Given the description of an element on the screen output the (x, y) to click on. 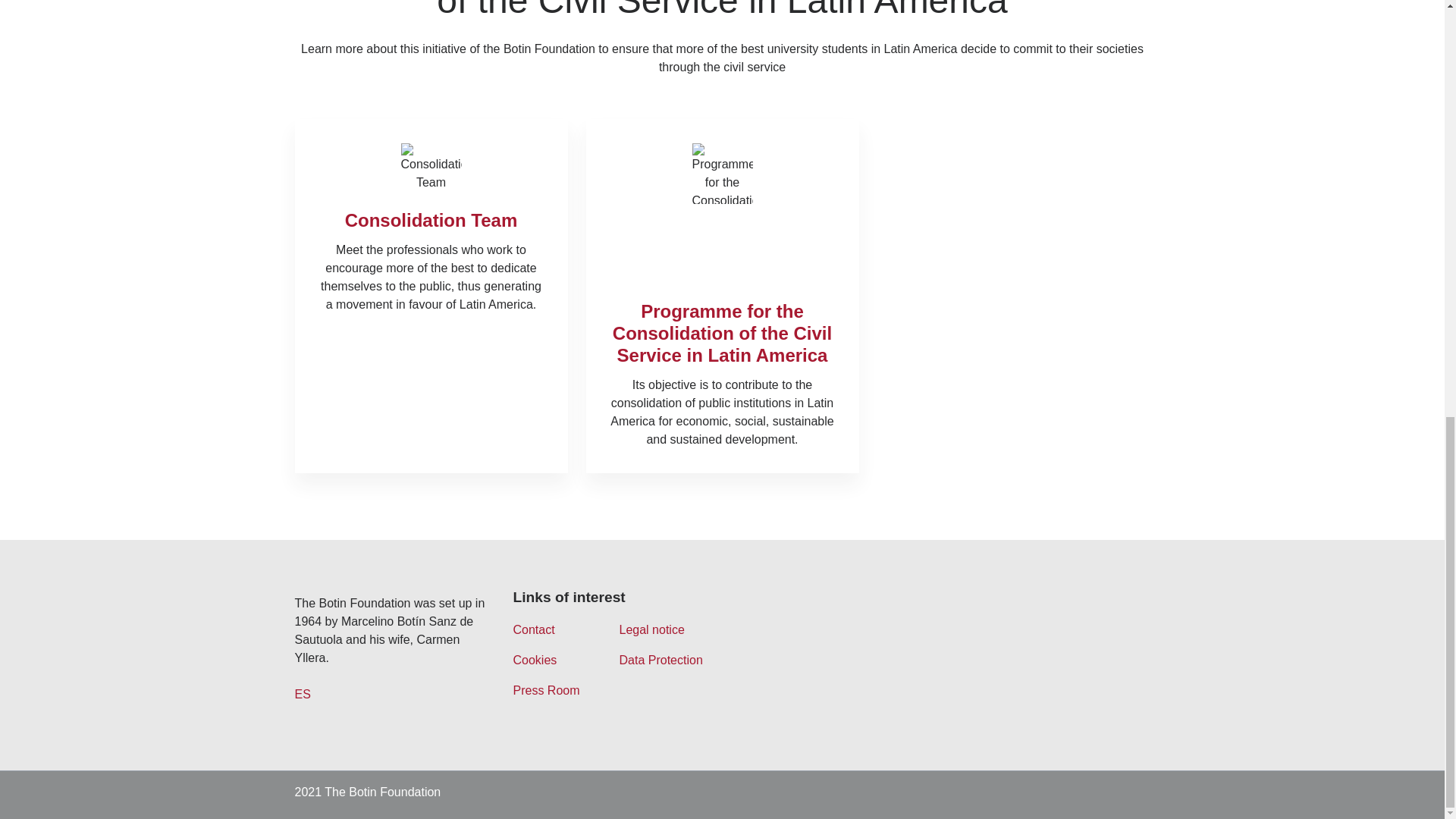
Consolidation Team (431, 219)
ES (302, 694)
